Given the description of an element on the screen output the (x, y) to click on. 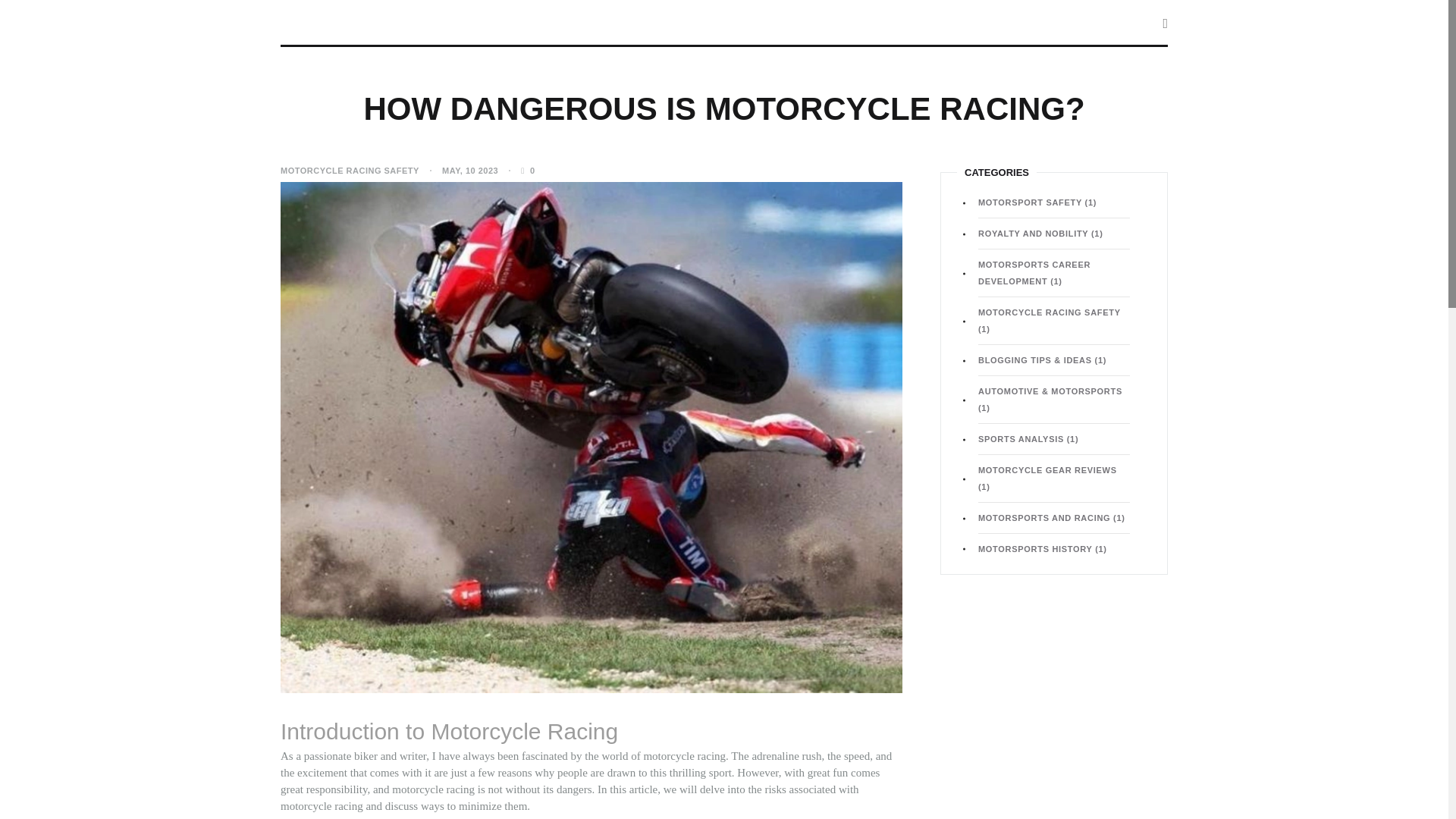
MOTORCYCLE RACING SAFETY (350, 170)
